Given the description of an element on the screen output the (x, y) to click on. 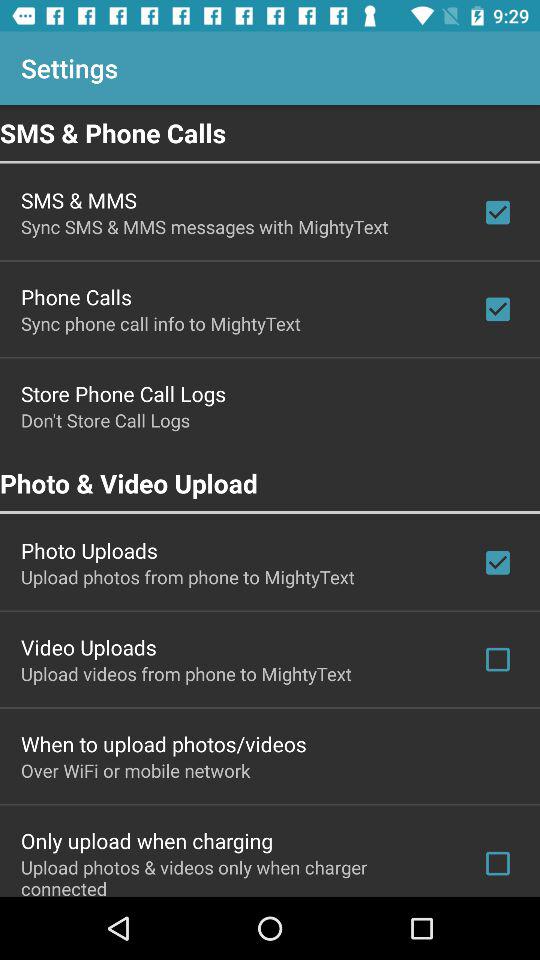
turn off icon below don t store app (270, 483)
